Given the description of an element on the screen output the (x, y) to click on. 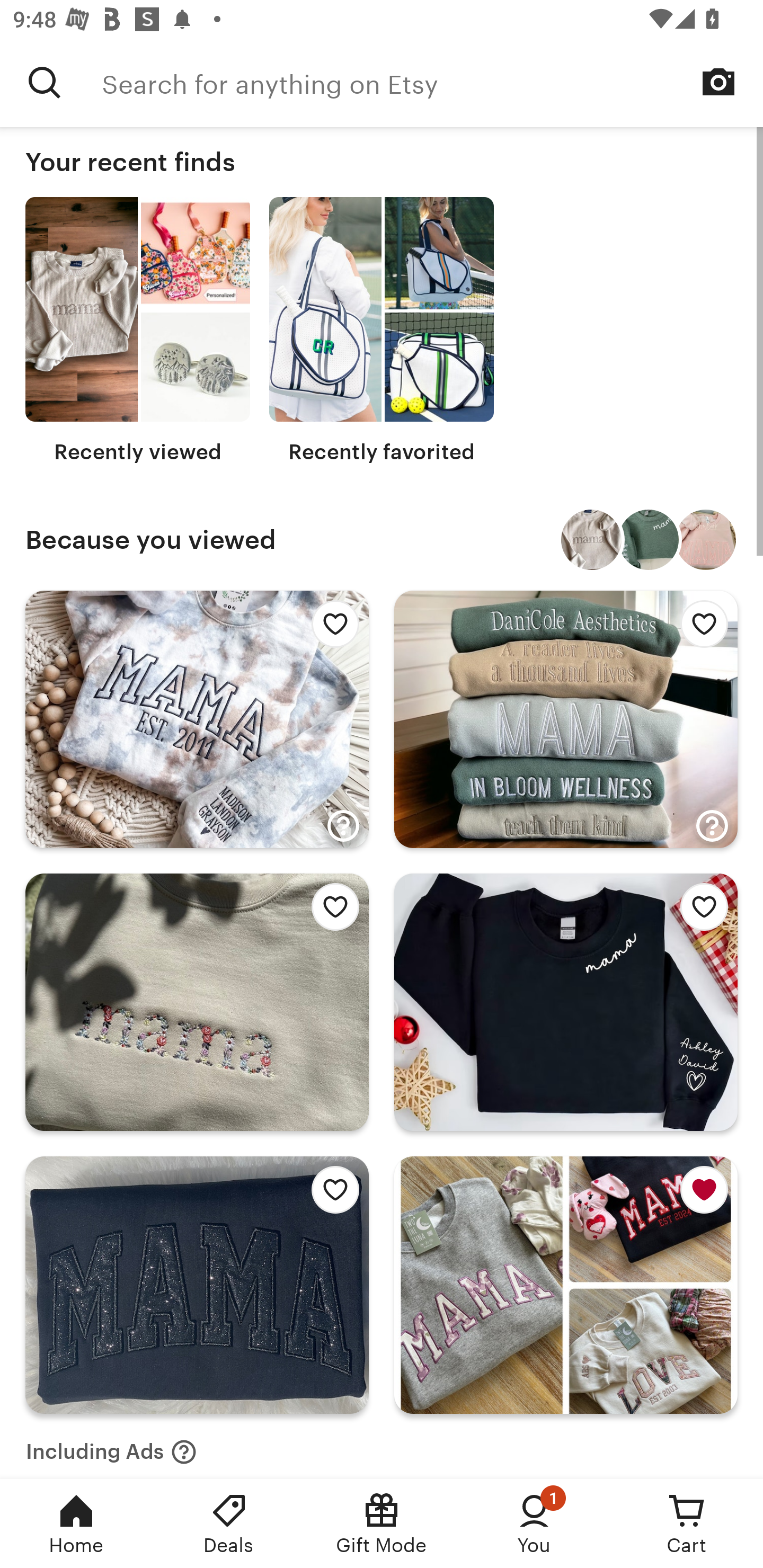
Search for anything on Etsy (44, 82)
Search by image (718, 81)
Search for anything on Etsy (432, 82)
Recently viewed (137, 330)
Recently favorited (381, 330)
Including Ads (111, 1446)
Deals (228, 1523)
Gift Mode (381, 1523)
You, 1 new notification You (533, 1523)
Cart (686, 1523)
